Given the description of an element on the screen output the (x, y) to click on. 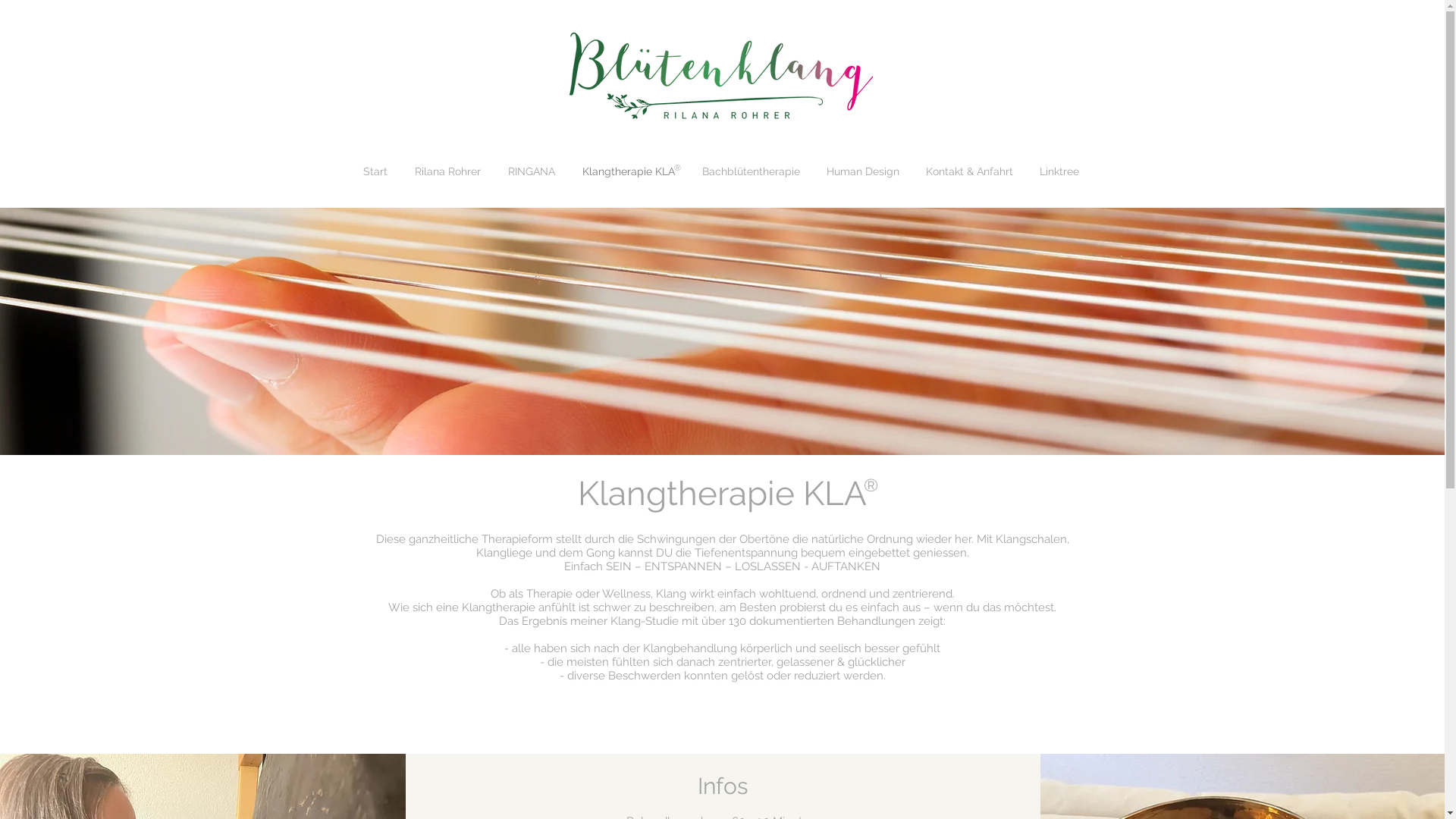
RINGANA Element type: text (531, 171)
Rilana Rohrer Element type: text (446, 171)
Kontakt & Anfahrt Element type: text (969, 171)
Start Element type: text (374, 171)
Klangtherapie KLA Element type: text (628, 171)
Linktree Element type: text (1059, 171)
Human Design Element type: text (862, 171)
